Given the description of an element on the screen output the (x, y) to click on. 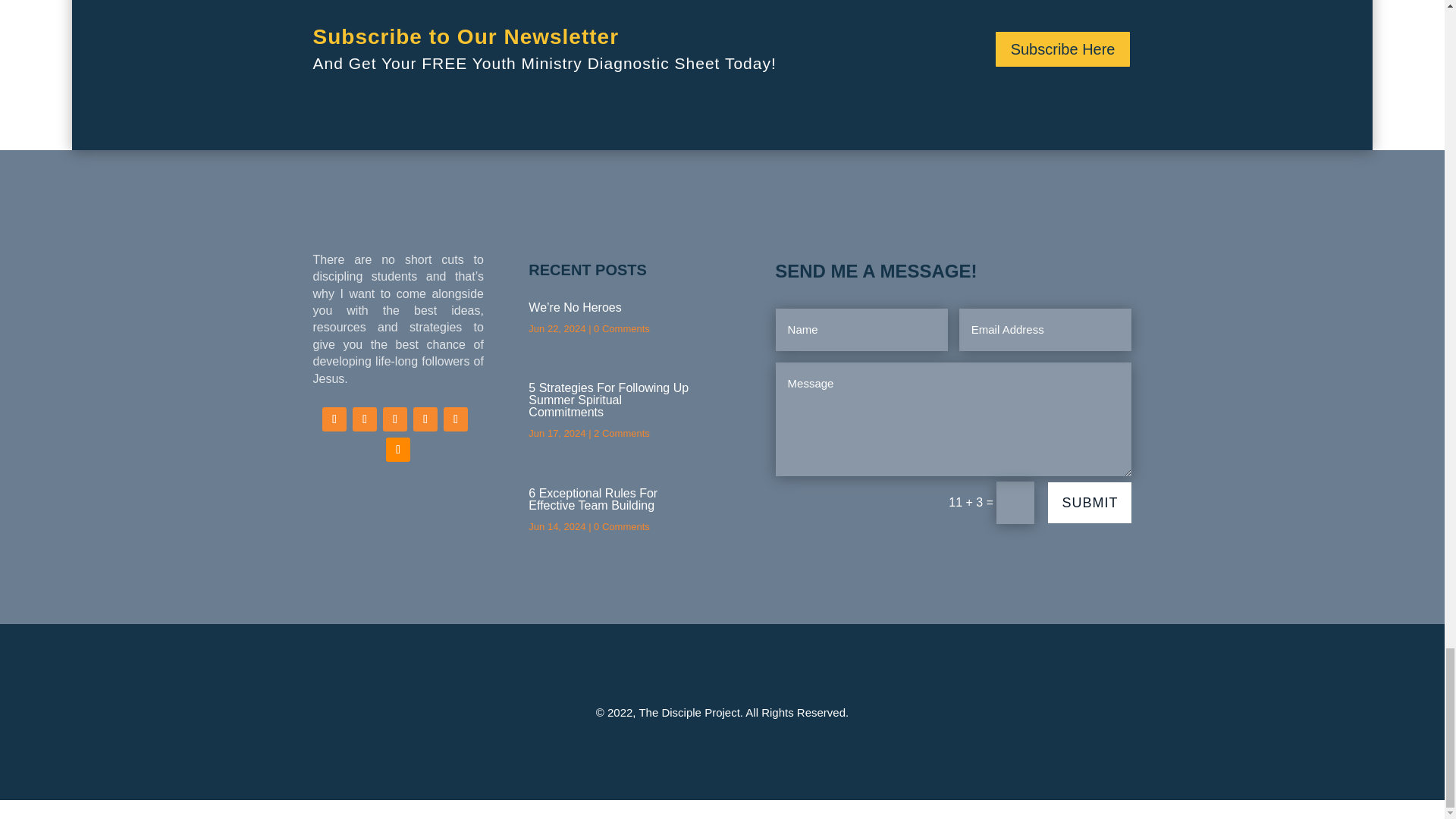
Follow on SoundCloud (397, 449)
Follow on LinkedIn (425, 419)
Follow on X (364, 419)
Subscribe Here (1063, 48)
Follow on Facebook (333, 419)
Follow on Youtube (455, 419)
Follow on Instagram (394, 419)
